Given the description of an element on the screen output the (x, y) to click on. 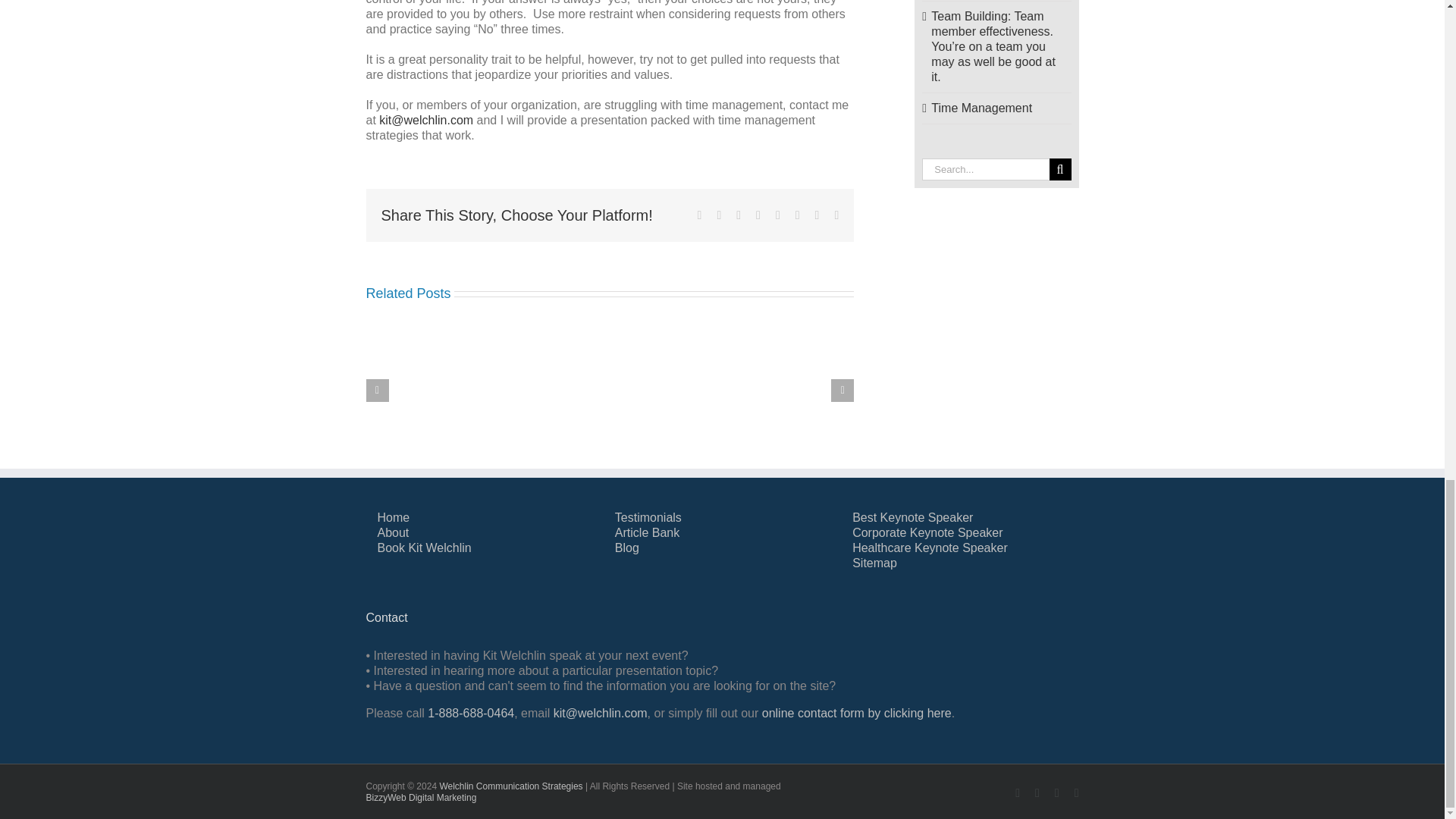
Pinterest (796, 215)
Vk (817, 215)
X (718, 215)
Email (836, 215)
Vk (817, 215)
Reddit (738, 215)
Pinterest (796, 215)
LinkedIn (757, 215)
Facebook (699, 215)
X (1037, 793)
Email (836, 215)
X (718, 215)
Facebook (699, 215)
Tumblr (778, 215)
Facebook (1017, 793)
